Given the description of an element on the screen output the (x, y) to click on. 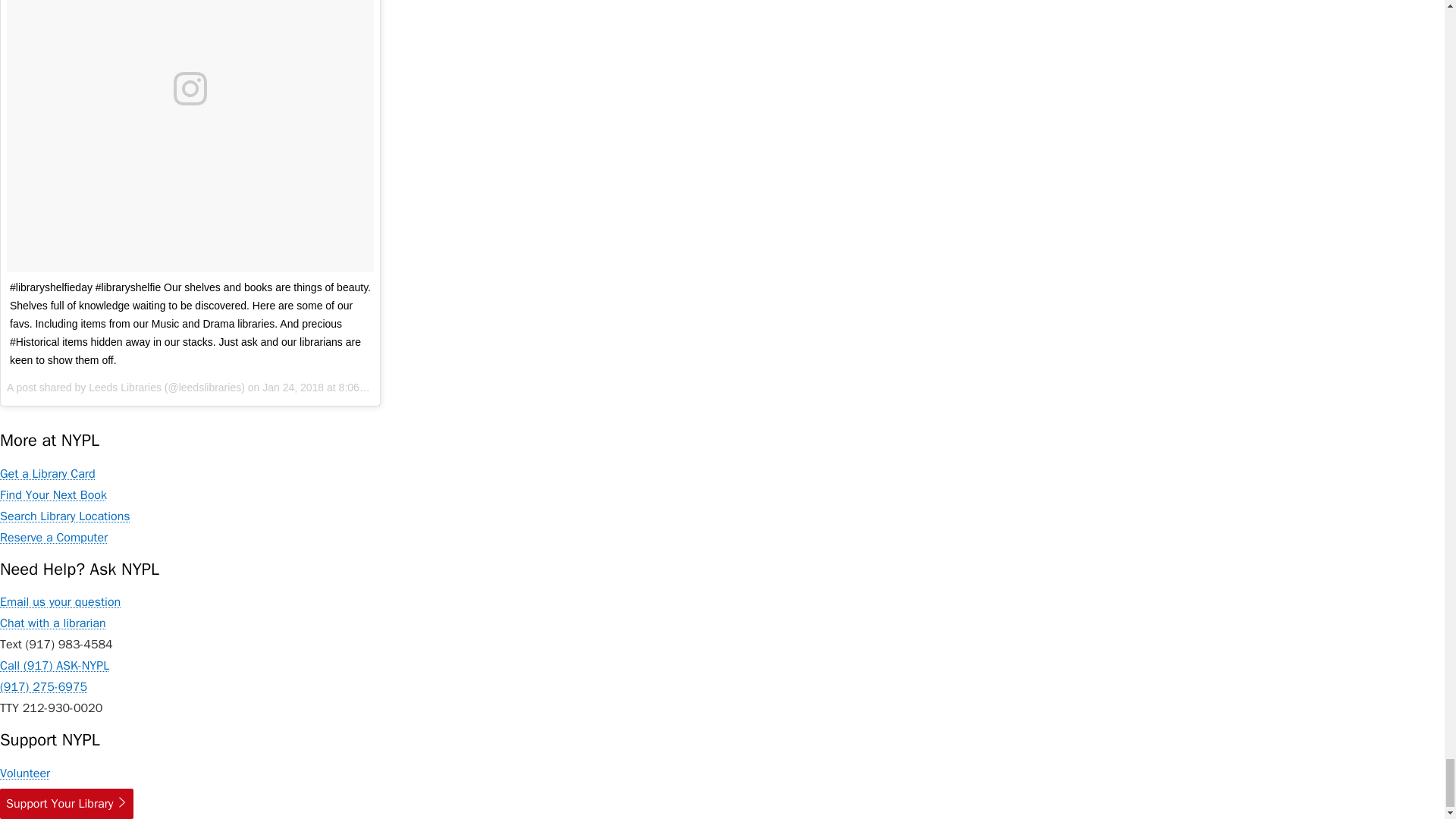
Get a Library Card (48, 473)
Leeds Libraries (124, 387)
Find Your Next Book (53, 494)
arrow icon (122, 801)
